Given the description of an element on the screen output the (x, y) to click on. 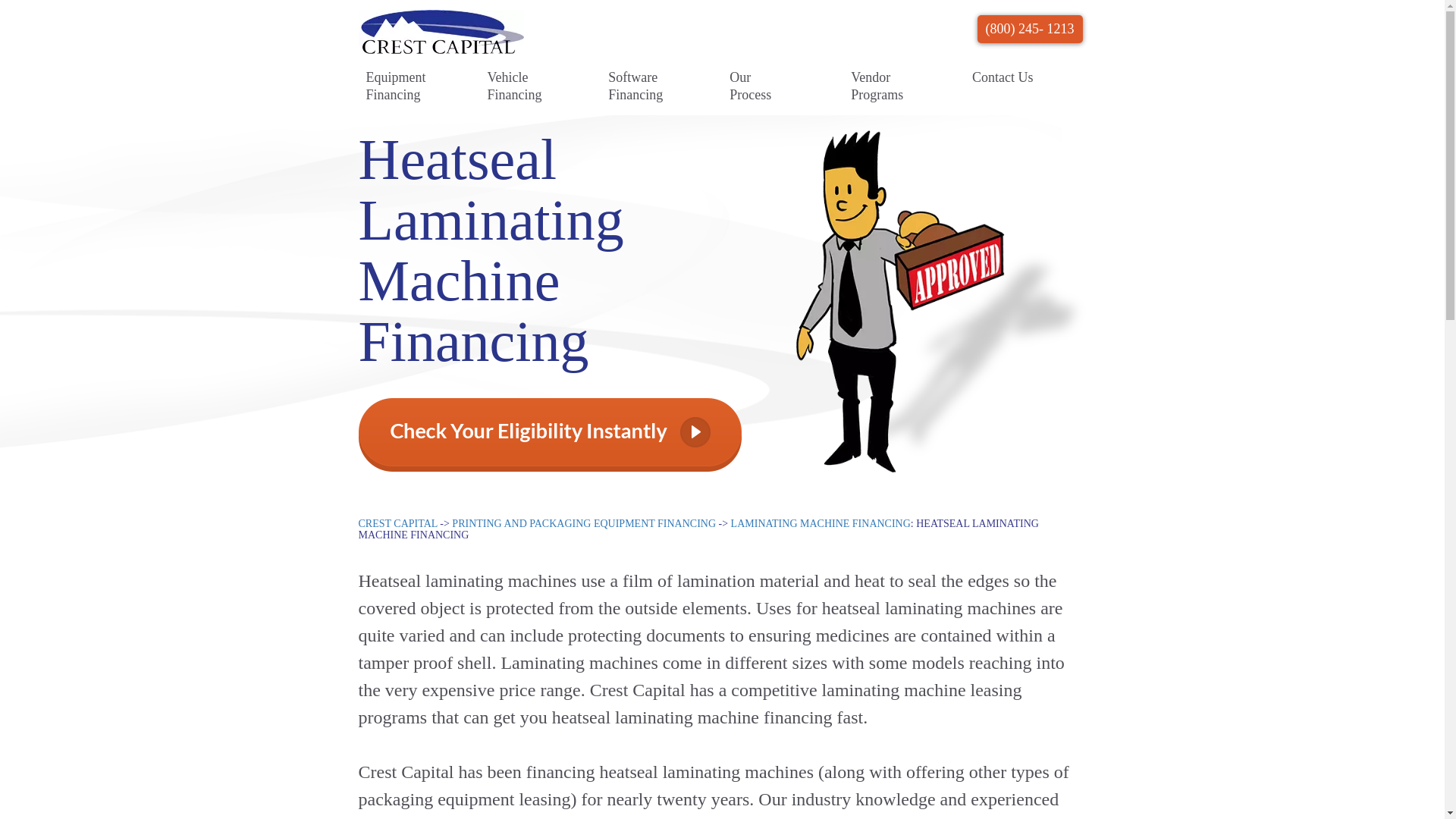
LAMINATING MACHINE FINANCING (820, 523)
Our Process (759, 86)
Software Financing (638, 86)
Vendor Programs (881, 86)
PRINTING AND PACKAGING EQUIPMENT FINANCING (583, 523)
Contact Us (1002, 77)
Equipment Financing (395, 86)
Vehicle Financing (517, 86)
CREST CAPITAL (397, 523)
